Given the description of an element on the screen output the (x, y) to click on. 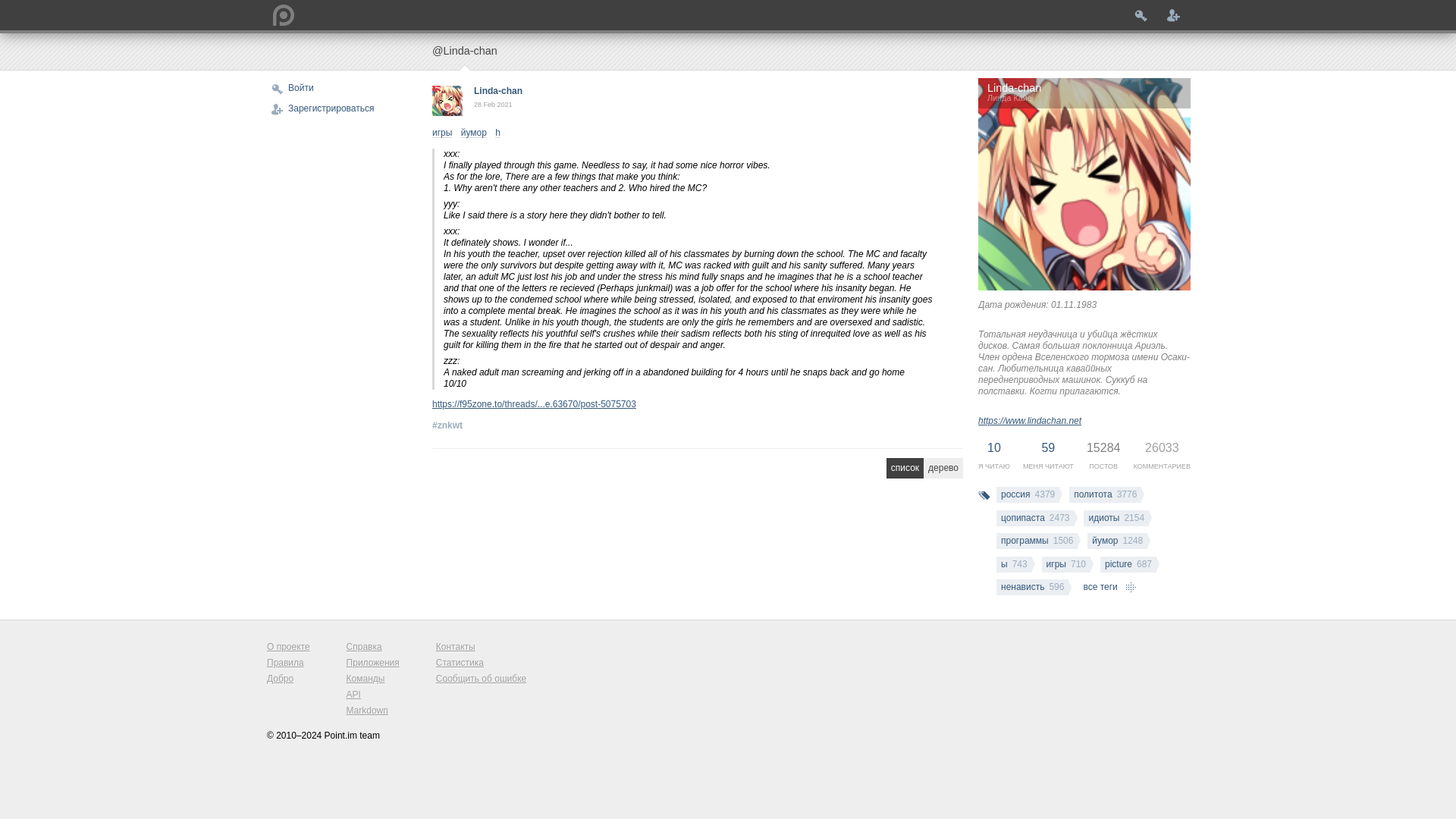
API (372, 695)
picture: 687 (1128, 564)
Markdown (372, 710)
picture687 (1128, 564)
Linda-chan (498, 90)
